Given the description of an element on the screen output the (x, y) to click on. 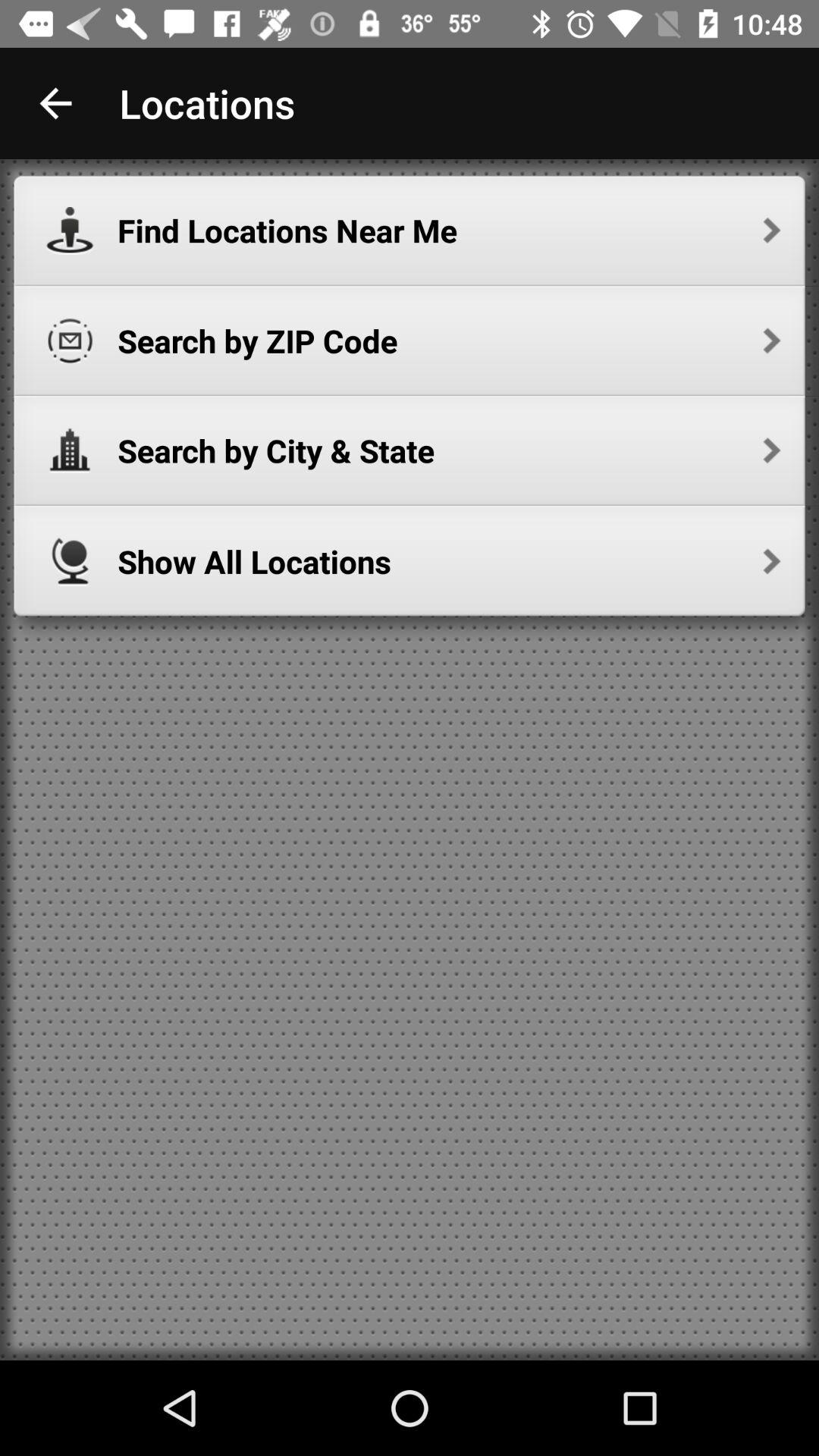
turn on the find locations near (448, 230)
